Given the description of an element on the screen output the (x, y) to click on. 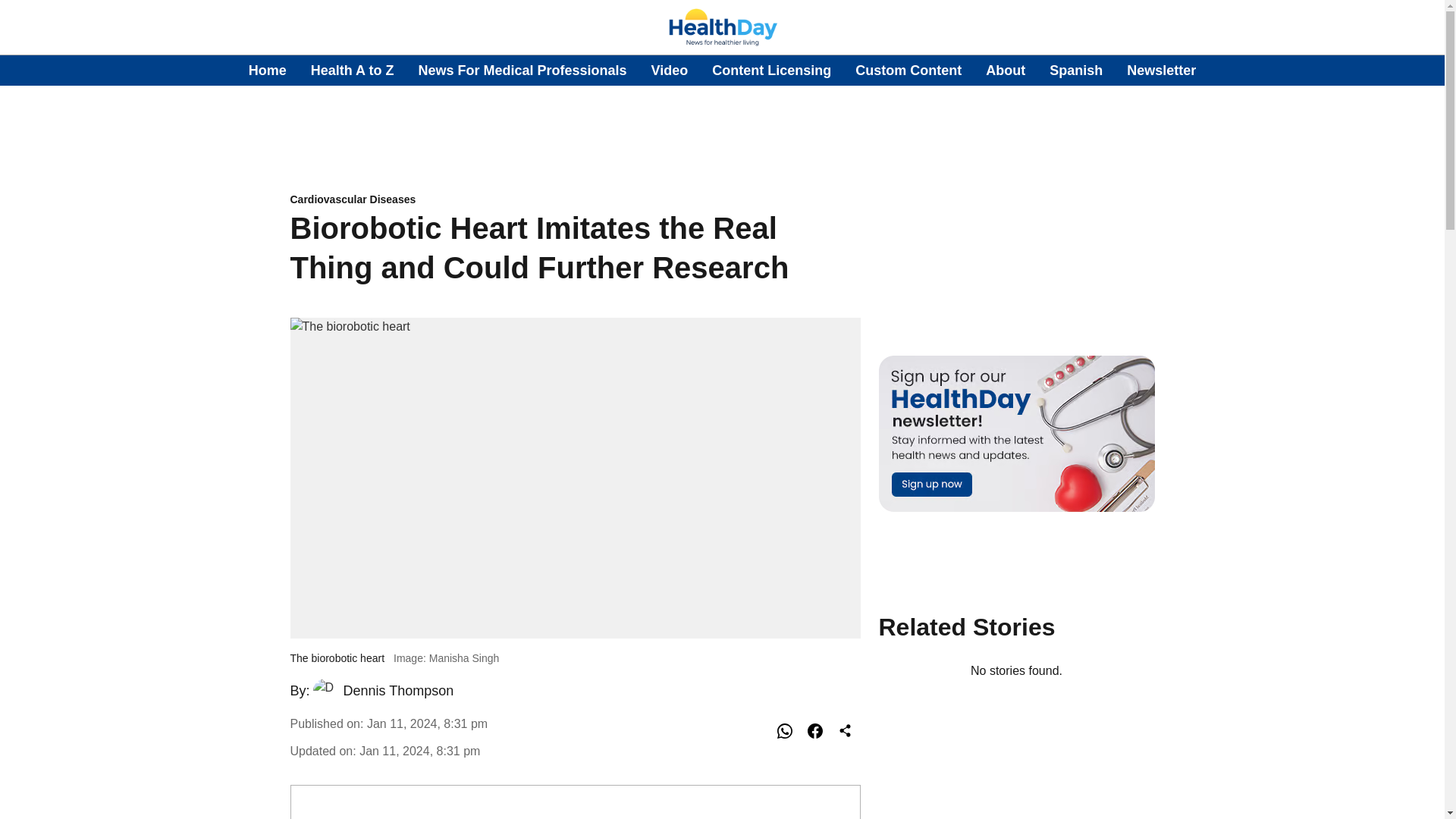
Health A to Z (352, 70)
2024-01-11 12:31 (426, 723)
2024-01-11 12:31 (419, 750)
Home (267, 70)
